Given the description of an element on the screen output the (x, y) to click on. 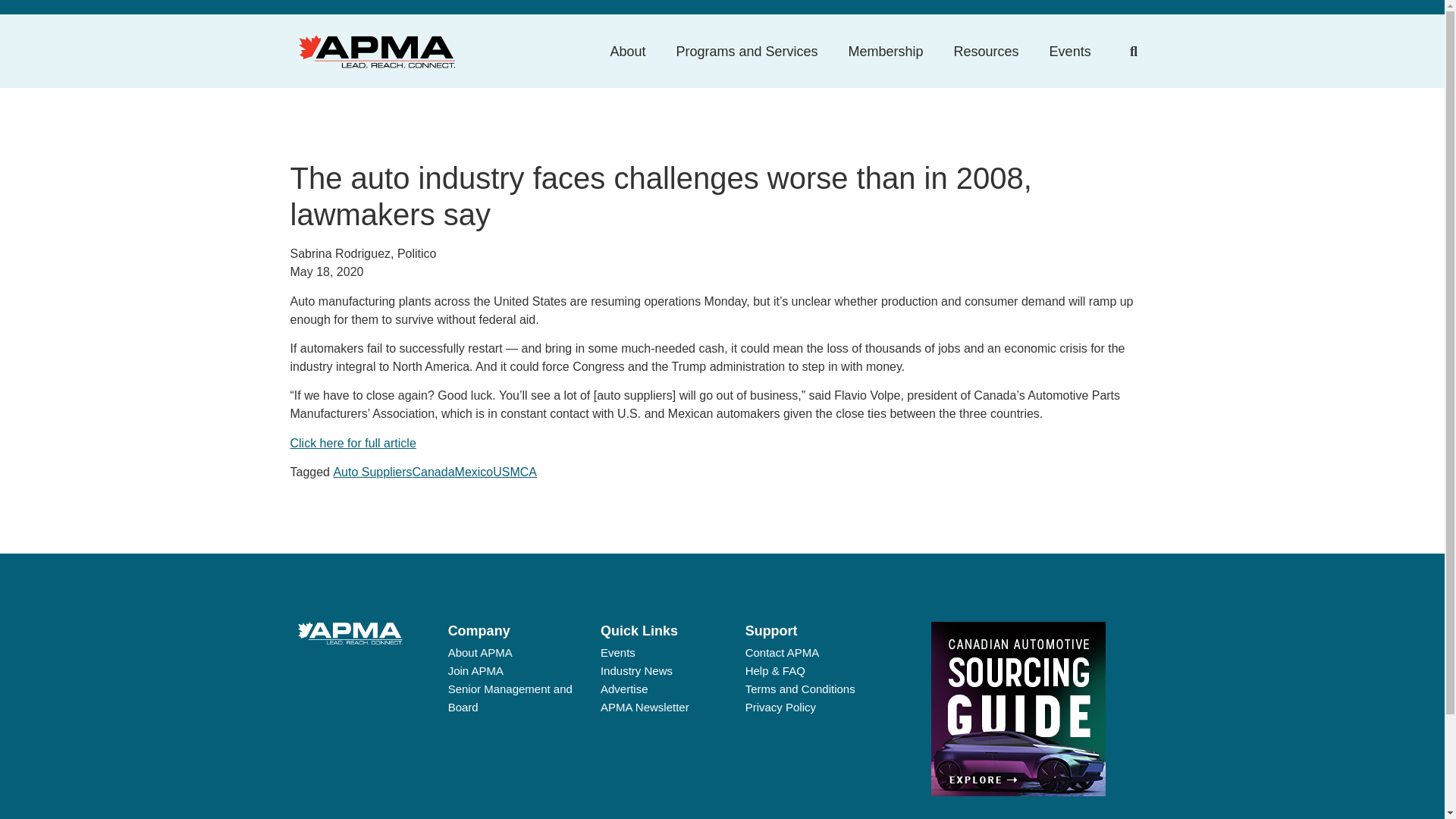
Resources (986, 51)
Events (1069, 51)
Programs and Services (746, 51)
About (627, 51)
Membership (885, 51)
